Given the description of an element on the screen output the (x, y) to click on. 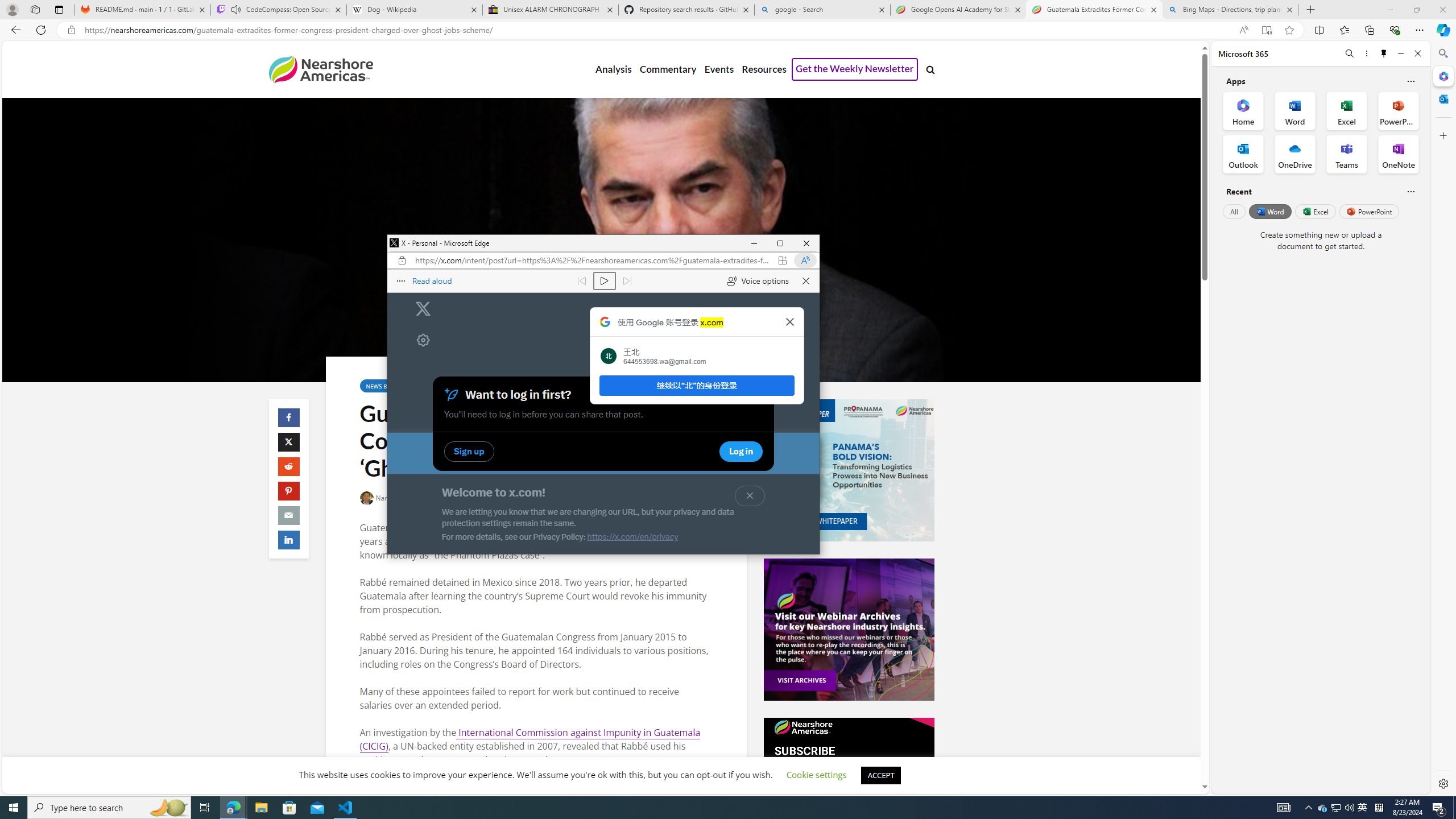
PowerPoint Office App (1398, 110)
Is this helpful? (1410, 191)
Continue to read aloud (Ctrl+Shift+U) (603, 280)
